Given the description of an element on the screen output the (x, y) to click on. 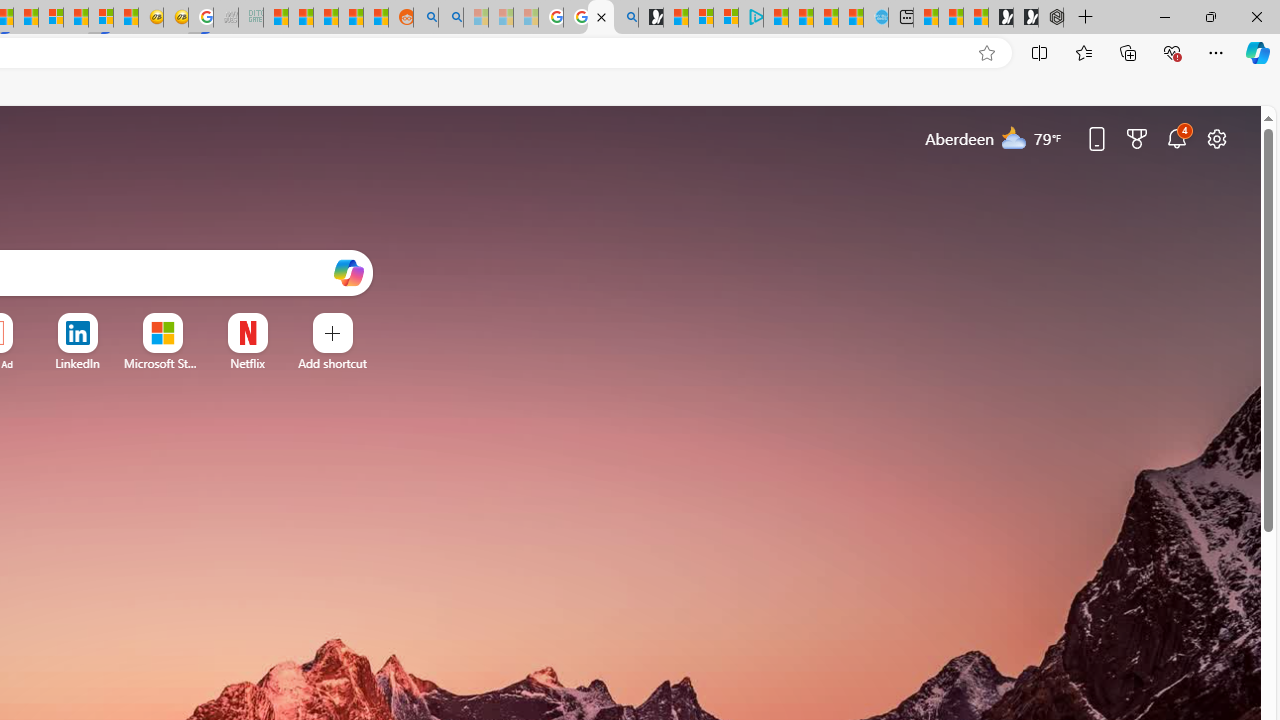
Add a site (332, 363)
Netflix (247, 363)
